Given the description of an element on the screen output the (x, y) to click on. 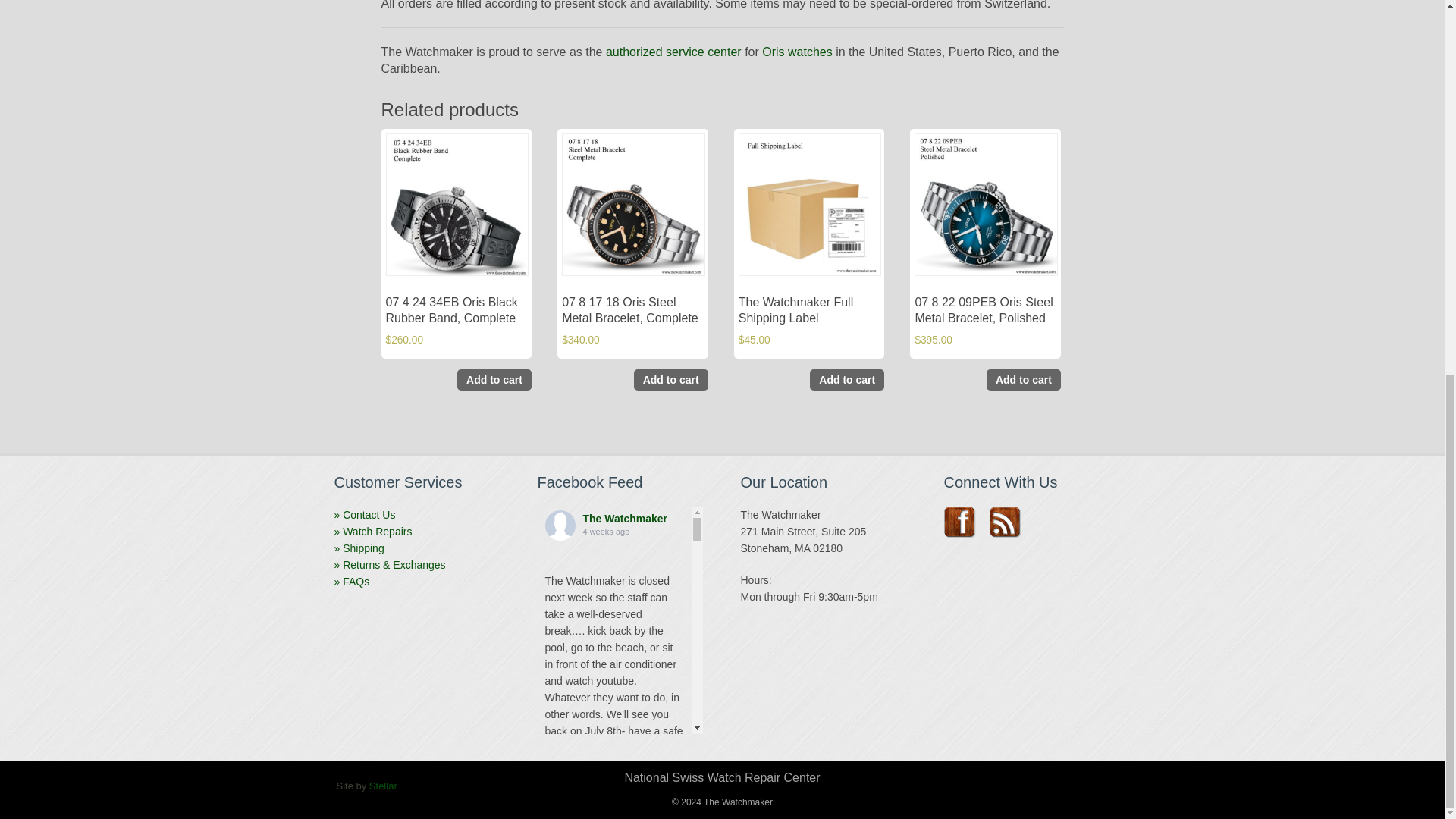
Share (555, 799)
View on Facebook (578, 775)
